Given the description of an element on the screen output the (x, y) to click on. 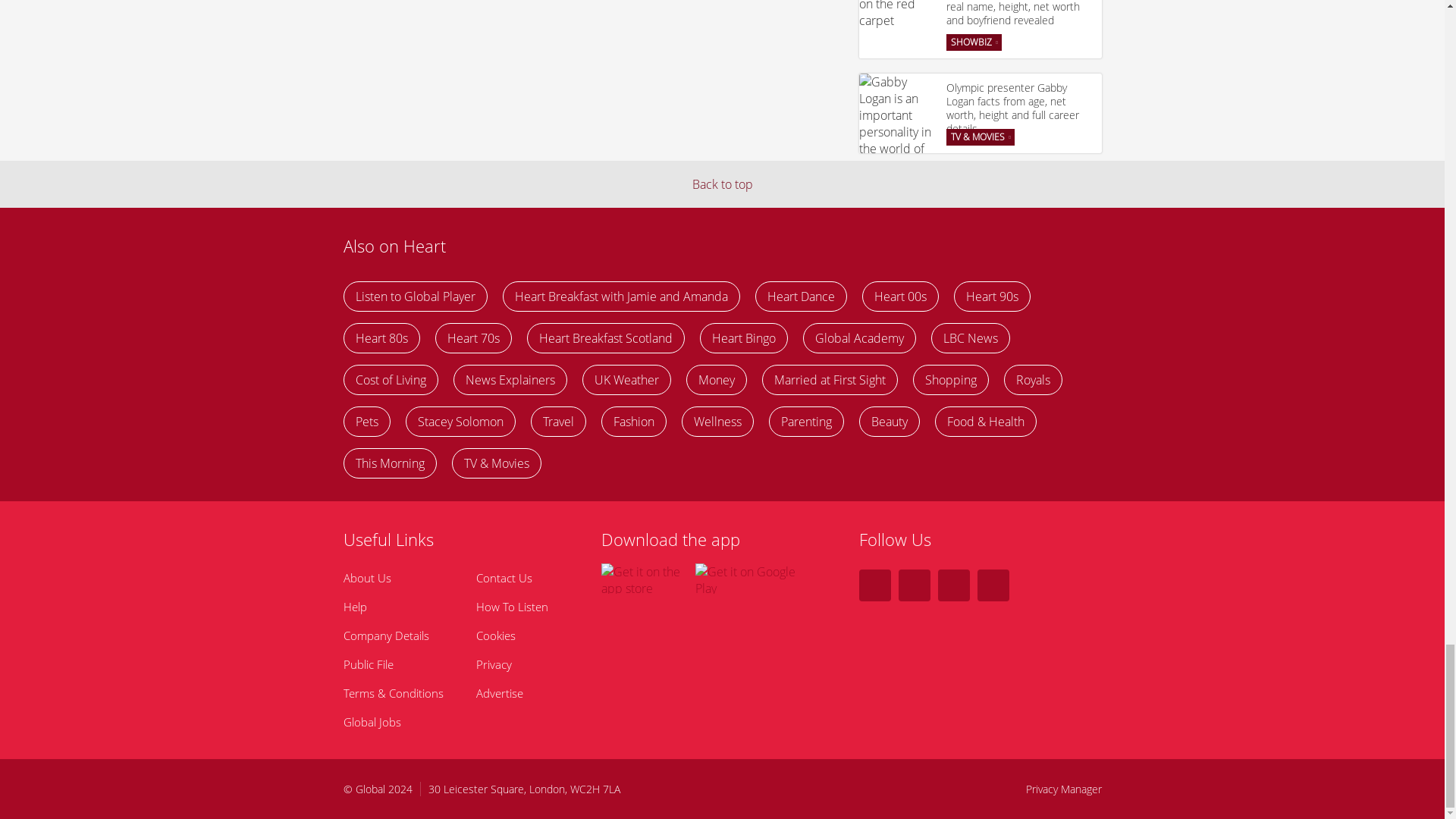
Follow Heart on Instagram (953, 585)
Follow Heart on Youtube (992, 585)
Follow Heart on Facebook (914, 585)
Back to top (721, 184)
Follow Heart on X (874, 585)
